Given the description of an element on the screen output the (x, y) to click on. 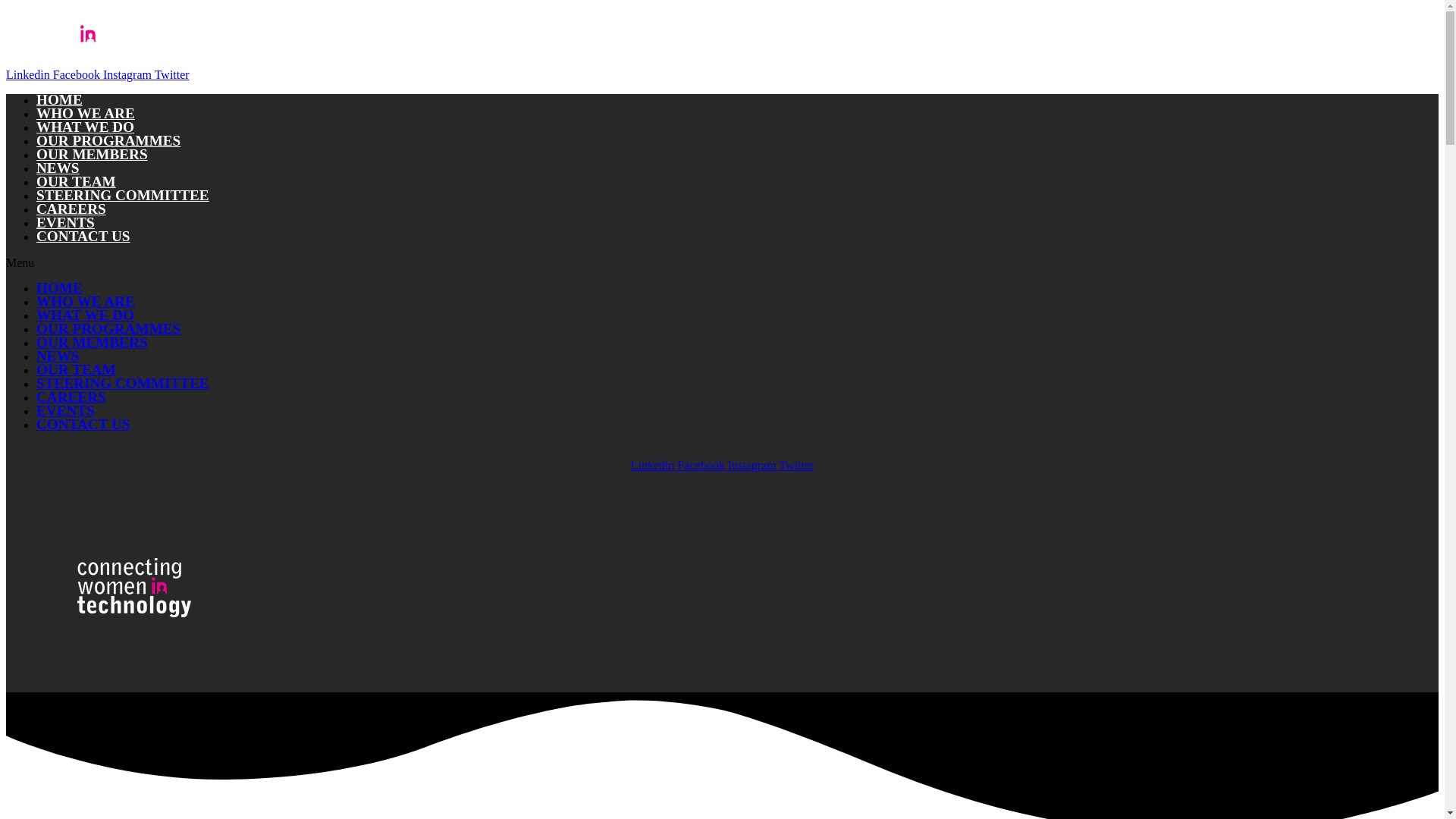
Facebook (77, 74)
WHO WE ARE (85, 301)
Instagram (128, 74)
HOME (59, 99)
OUR TEAM (76, 369)
WHO WE ARE (85, 113)
Twitter (171, 74)
STEERING COMMITTEE (122, 195)
CAREERS (71, 396)
OUR MEMBERS (92, 154)
